Given the description of an element on the screen output the (x, y) to click on. 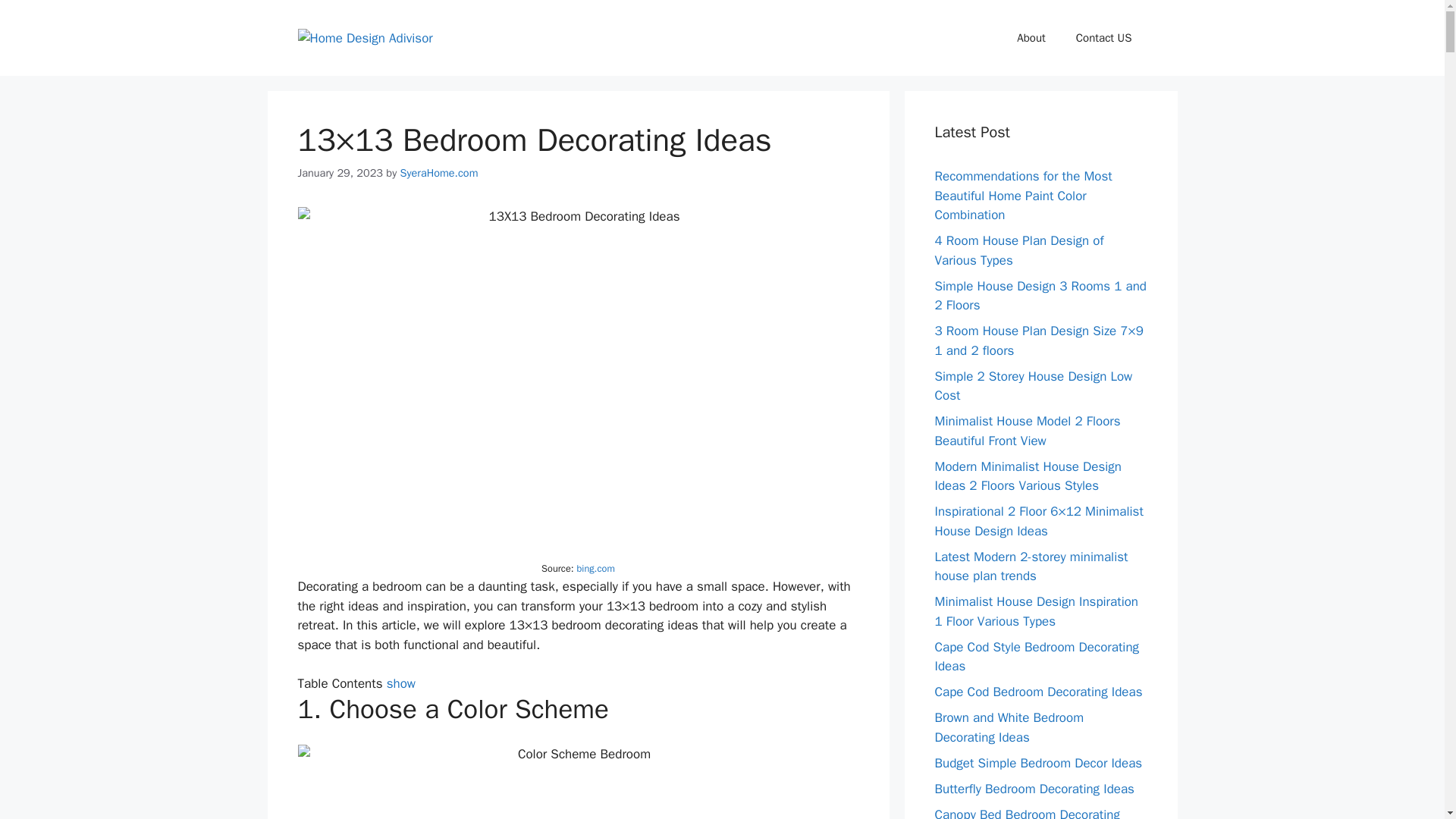
SyeraHome.com (439, 172)
View all posts by SyeraHome.com (439, 172)
Contact US (1104, 37)
About (1030, 37)
show (400, 683)
bing.com (595, 568)
